Given the description of an element on the screen output the (x, y) to click on. 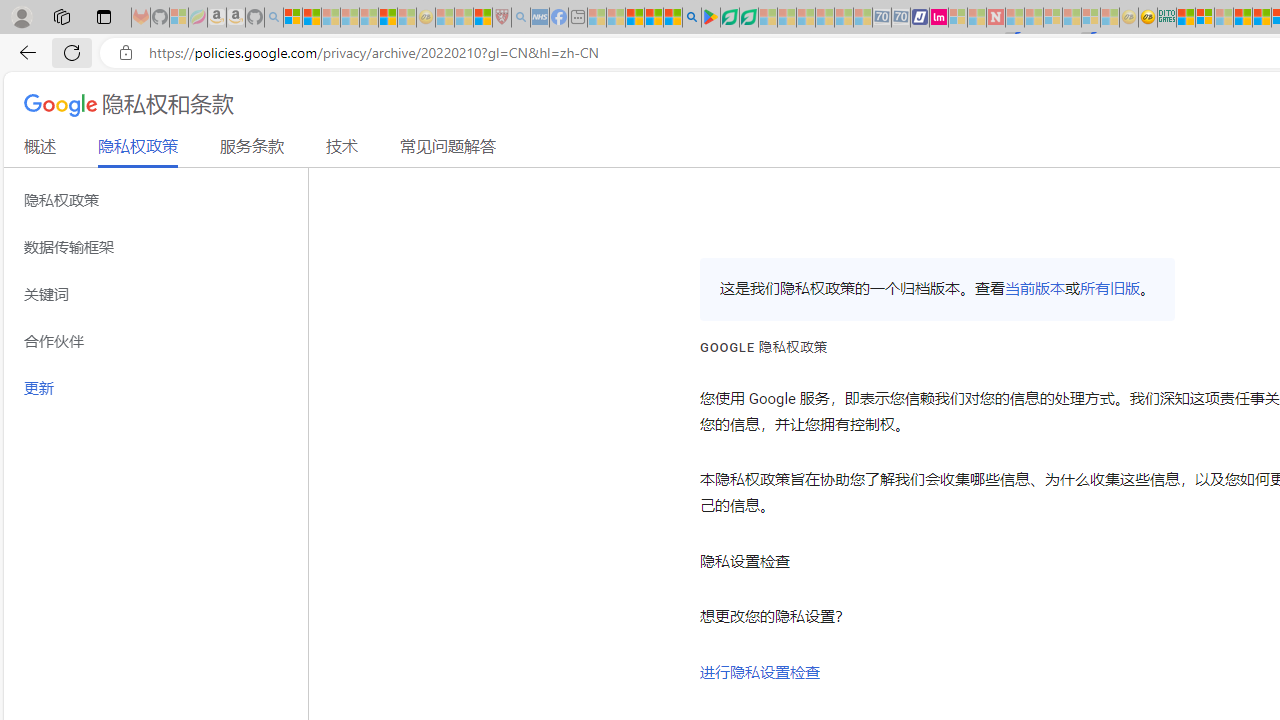
Bluey: Let's Play! - Apps on Google Play (710, 17)
Terms of Use Agreement (729, 17)
Local - MSN (482, 17)
